Given the description of an element on the screen output the (x, y) to click on. 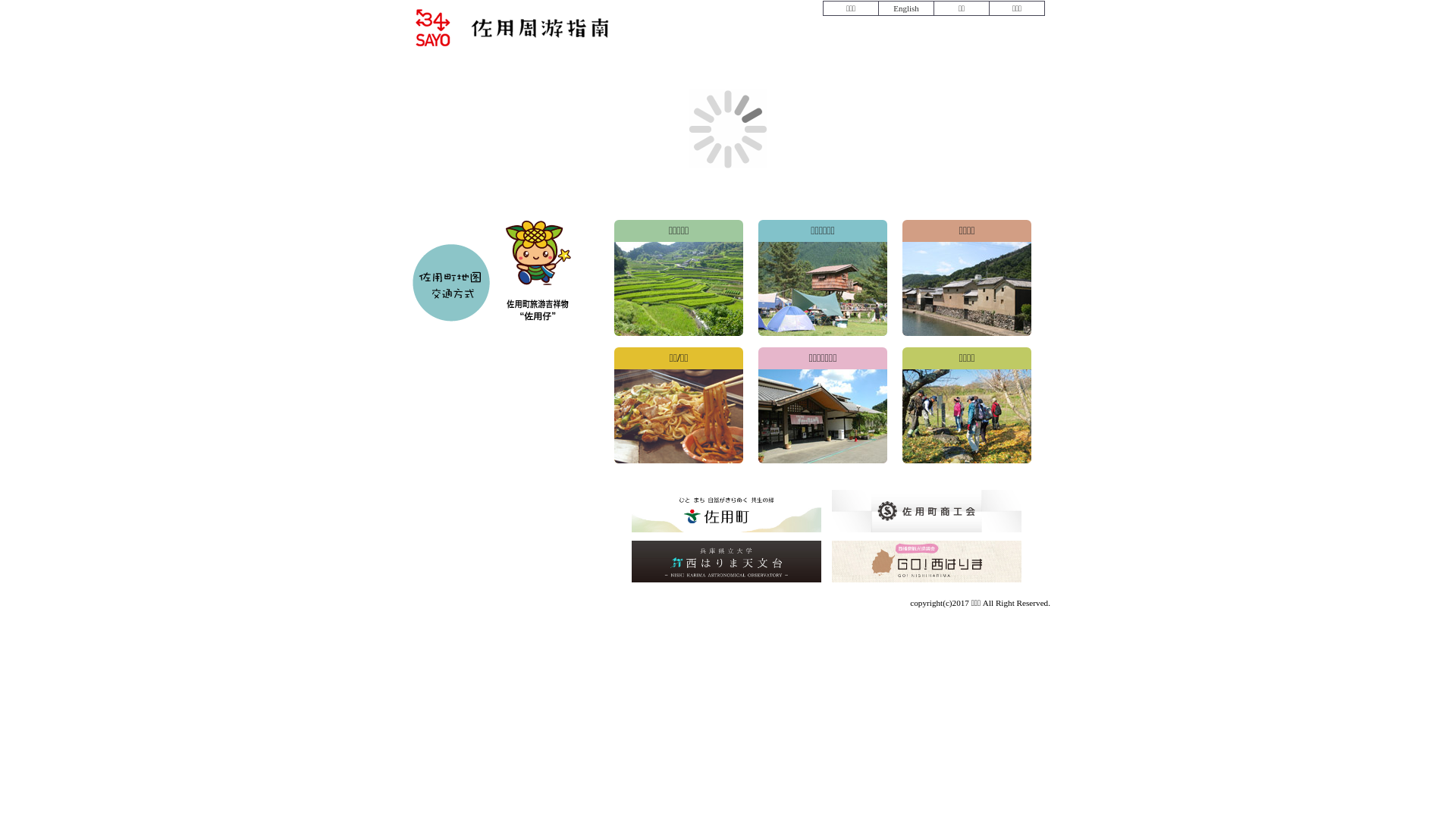
English Element type: text (905, 7)
